Given the description of an element on the screen output the (x, y) to click on. 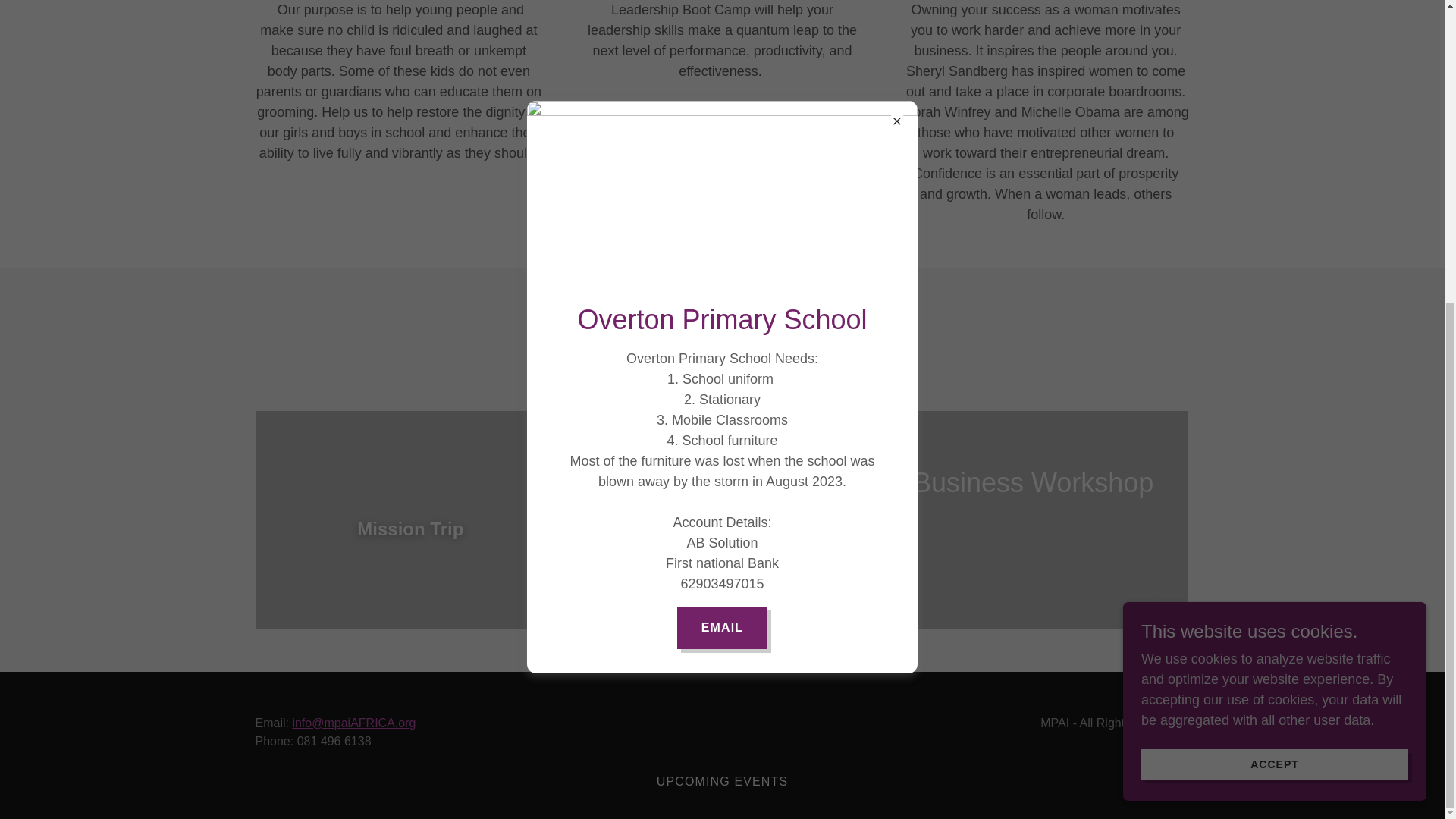
EMAIL (722, 155)
ACCEPT (1274, 291)
UPCOMING EVENTS (722, 781)
